Given the description of an element on the screen output the (x, y) to click on. 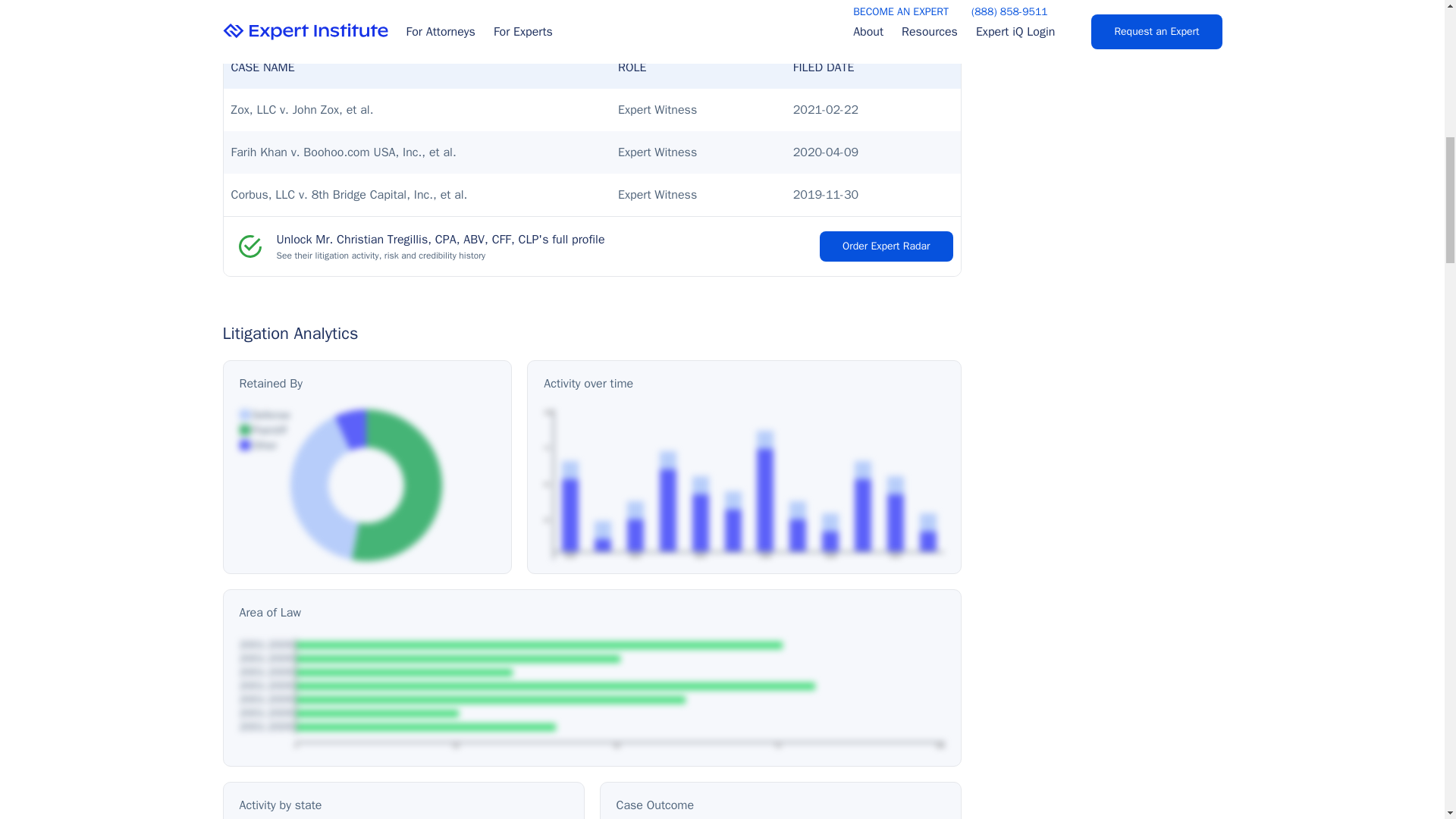
Order Expert Radar (885, 245)
